Given the description of an element on the screen output the (x, y) to click on. 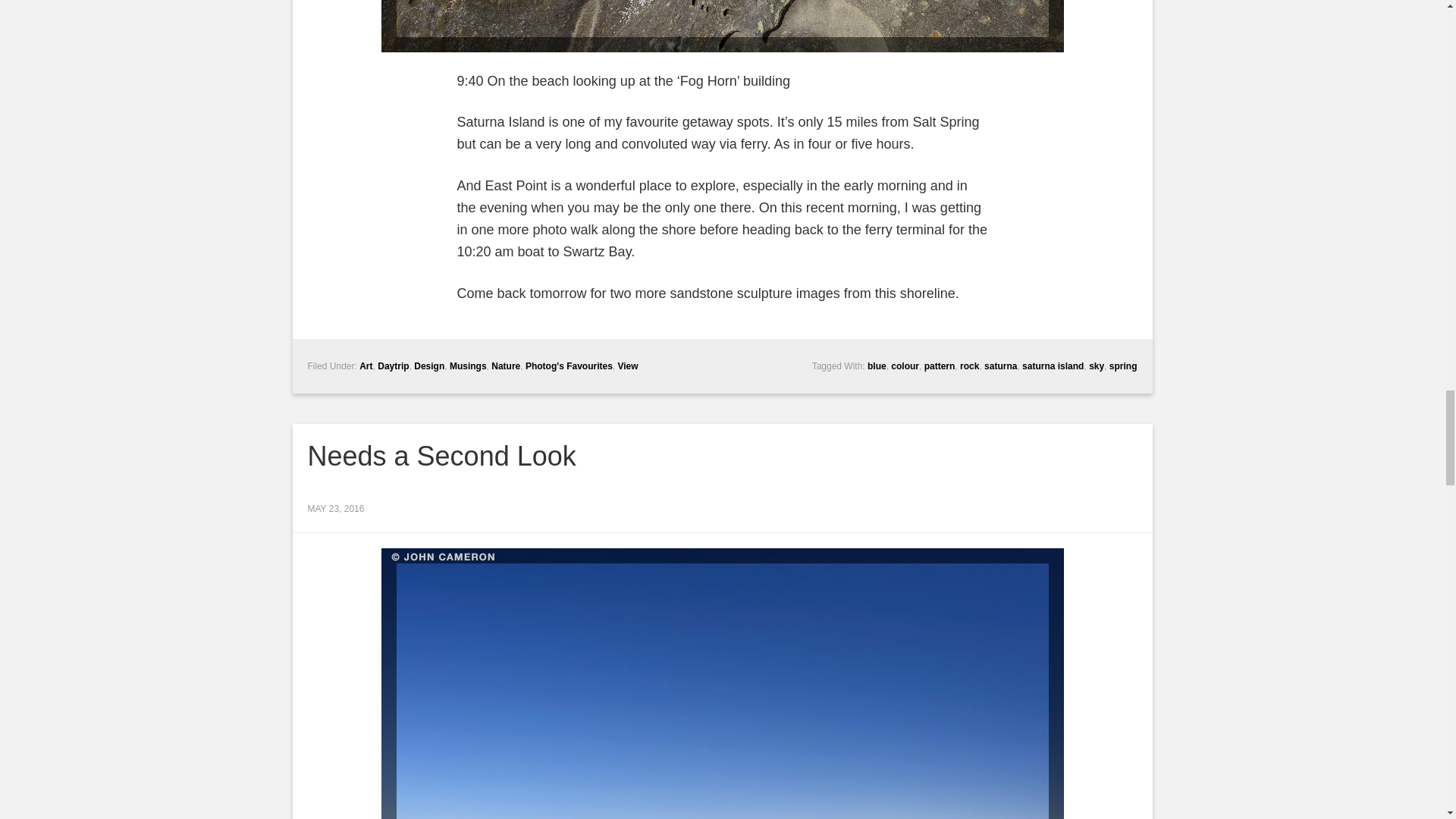
Art (365, 366)
blue (876, 366)
Musings (467, 366)
Photog's Favourites (568, 366)
Nature (505, 366)
Daytrip (393, 366)
colour (904, 366)
Design (428, 366)
View (627, 366)
pattern (939, 366)
